Given the description of an element on the screen output the (x, y) to click on. 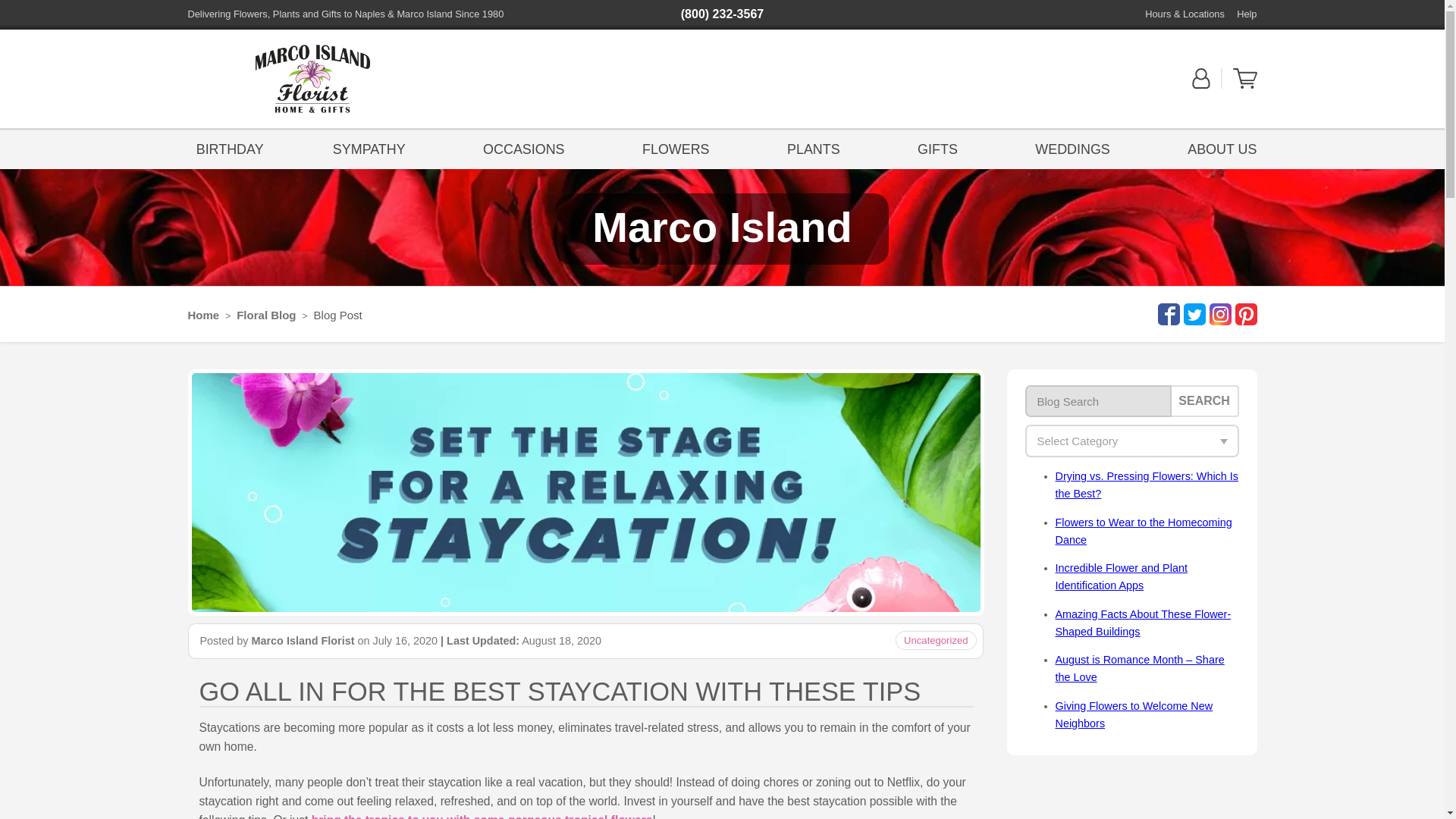
Shopping Cart (1245, 78)
SEARCH (1204, 400)
Instagram (1218, 314)
FLOWERS (675, 147)
Marco Island Florist Logo (312, 79)
GIFTS (937, 147)
Facebook (1166, 314)
WEDDINGS (1072, 147)
OCCASIONS (523, 147)
Shopping Cart (1245, 85)
